Given the description of an element on the screen output the (x, y) to click on. 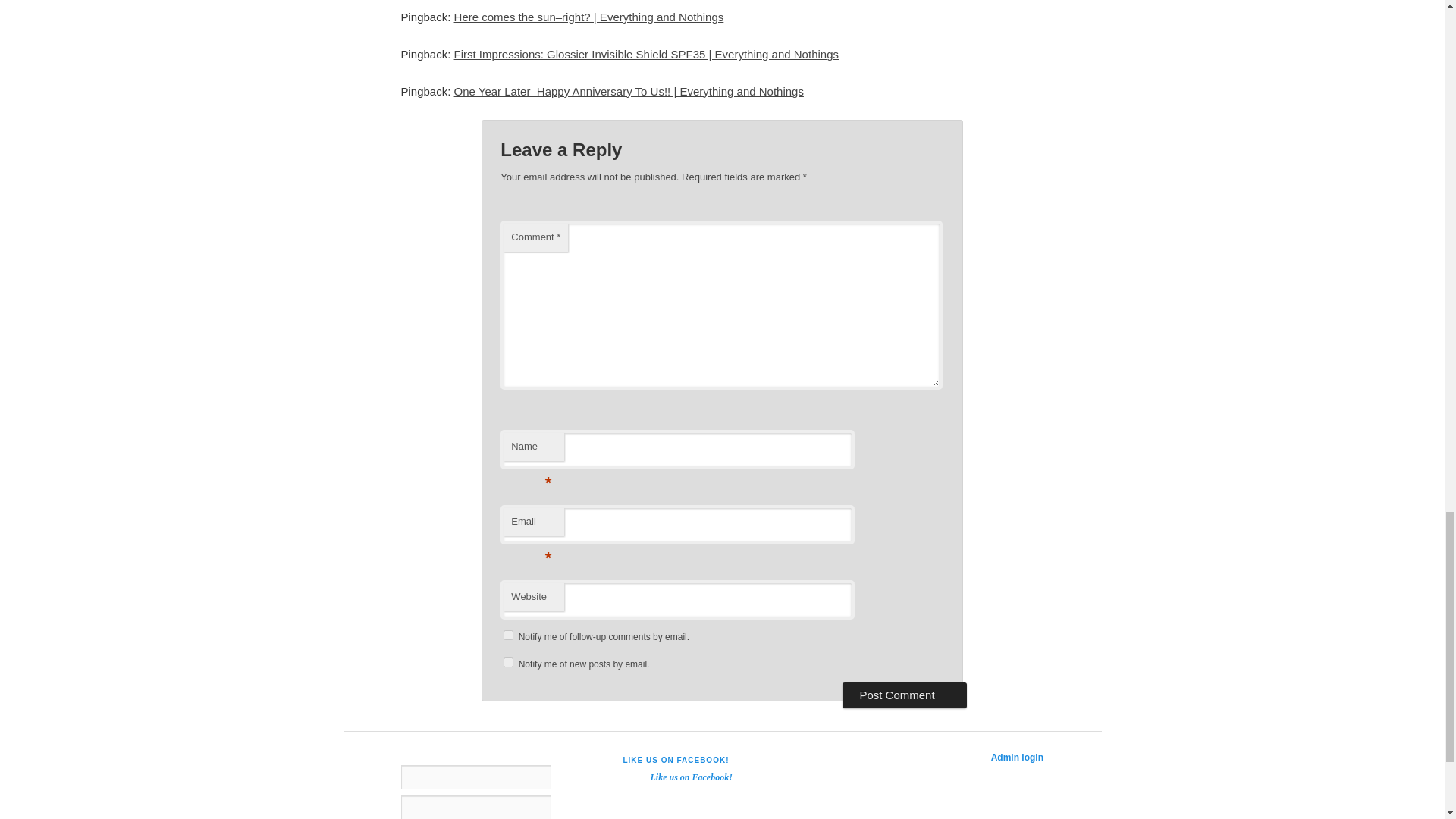
Admin login (1017, 757)
subscribe (508, 634)
Post Comment (904, 695)
Like us on Facebook! (690, 777)
Post Comment (904, 695)
LIKE US ON FACEBOOK! (676, 759)
subscribe (508, 662)
